Given the description of an element on the screen output the (x, y) to click on. 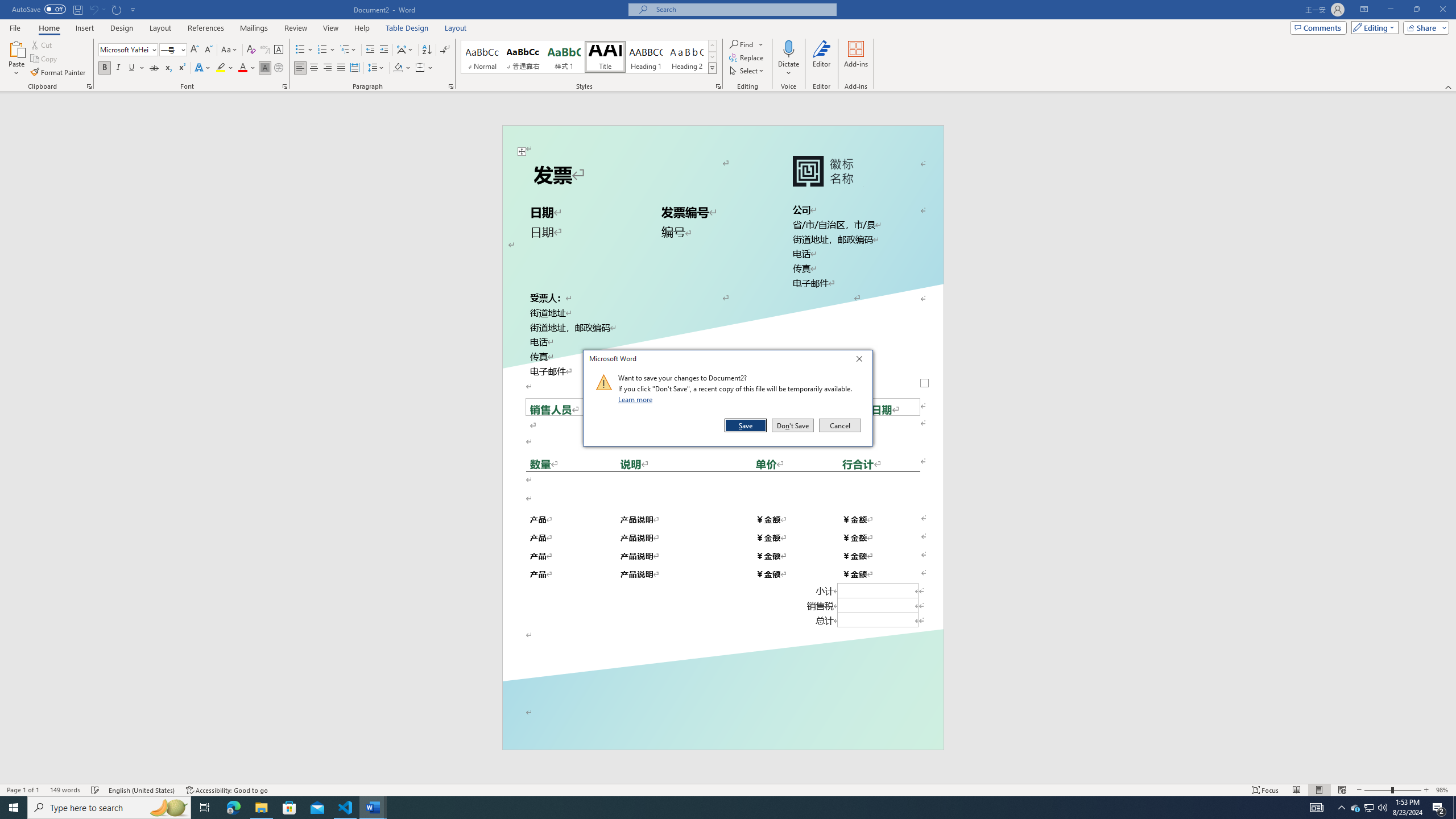
Numbering (326, 49)
Font... (285, 85)
Font Size (172, 49)
Asian Layout (405, 49)
Title (605, 56)
First Page Header -Section 1- (1355, 807)
Action Center, 2 new notifications (722, 140)
Heading 2 (1439, 807)
Copy (686, 56)
Heading 1 (45, 58)
Character Shading (646, 56)
Phonetic Guide... (264, 67)
